Given the description of an element on the screen output the (x, y) to click on. 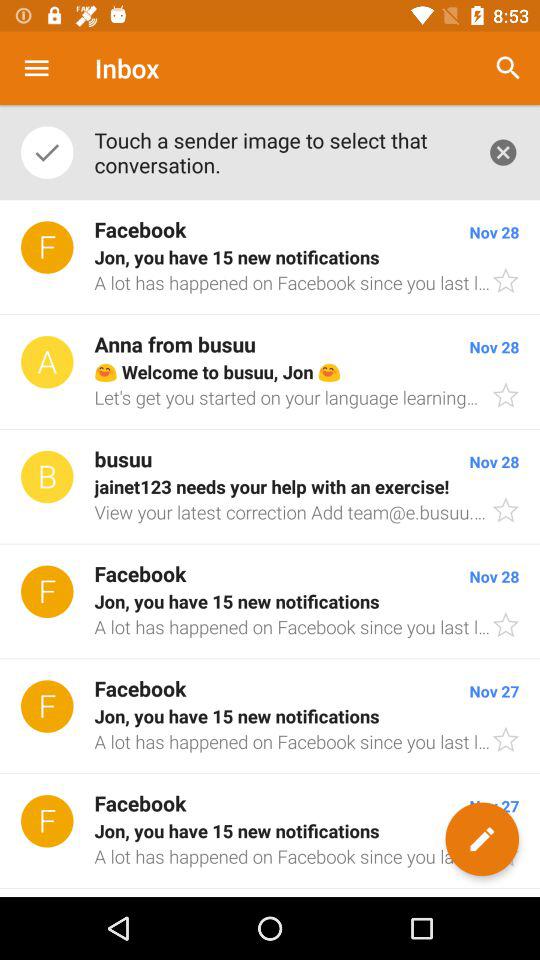
click the icon at the bottom right corner (482, 839)
